Given the description of an element on the screen output the (x, y) to click on. 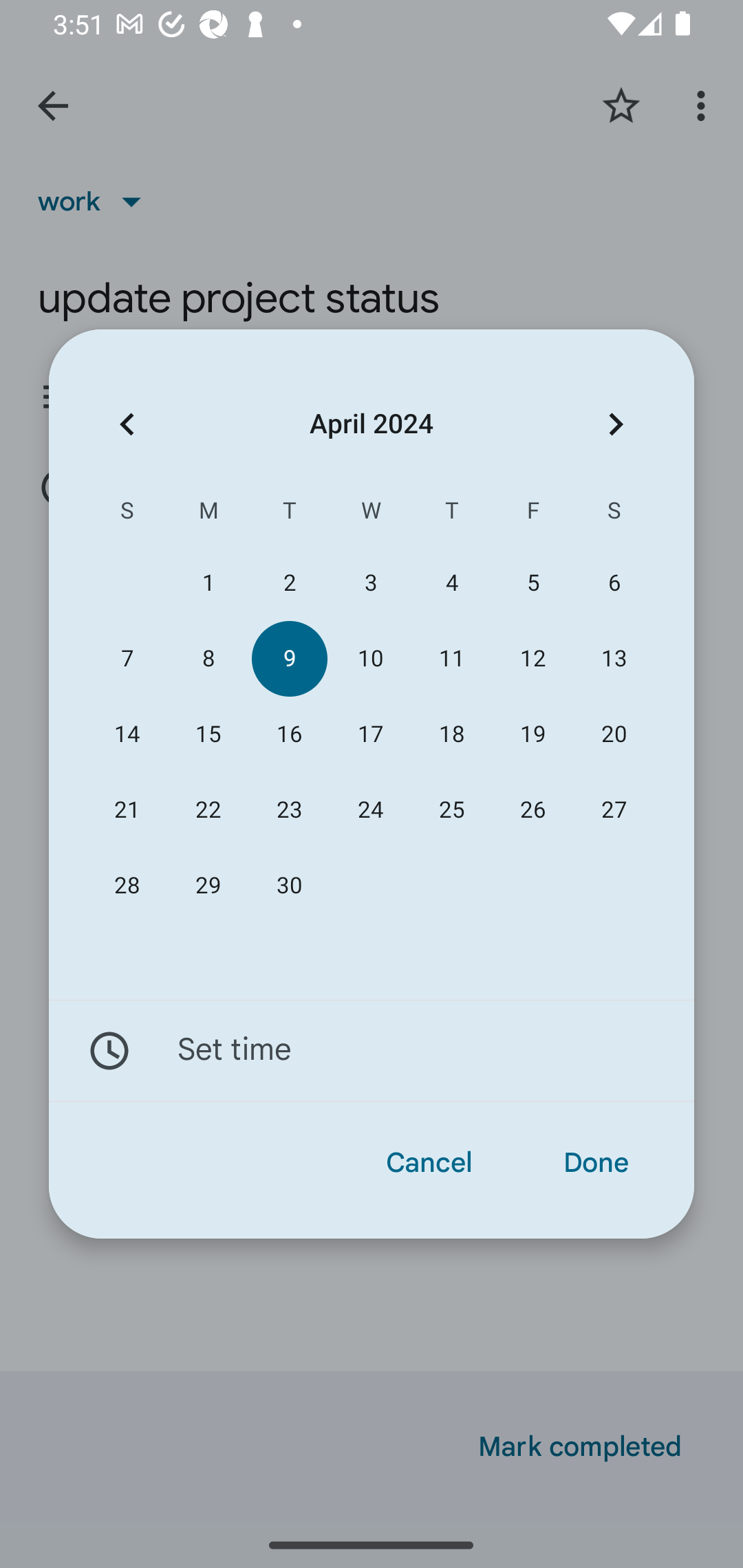
Previous month (126, 424)
Next month (615, 424)
1 01 April 2024 (207, 582)
2 02 April 2024 (288, 582)
3 03 April 2024 (370, 582)
4 04 April 2024 (451, 582)
5 05 April 2024 (532, 582)
6 06 April 2024 (613, 582)
7 07 April 2024 (126, 658)
8 08 April 2024 (207, 658)
9 09 April 2024 (288, 658)
10 10 April 2024 (370, 658)
11 11 April 2024 (451, 658)
12 12 April 2024 (532, 658)
13 13 April 2024 (613, 658)
14 14 April 2024 (126, 734)
15 15 April 2024 (207, 734)
16 16 April 2024 (288, 734)
17 17 April 2024 (370, 734)
18 18 April 2024 (451, 734)
19 19 April 2024 (532, 734)
20 20 April 2024 (613, 734)
21 21 April 2024 (126, 810)
22 22 April 2024 (207, 810)
23 23 April 2024 (288, 810)
24 24 April 2024 (370, 810)
25 25 April 2024 (451, 810)
26 26 April 2024 (532, 810)
27 27 April 2024 (613, 810)
28 28 April 2024 (126, 885)
29 29 April 2024 (207, 885)
30 30 April 2024 (288, 885)
Set time (371, 1050)
Cancel (429, 1162)
Done (595, 1162)
